Given the description of an element on the screen output the (x, y) to click on. 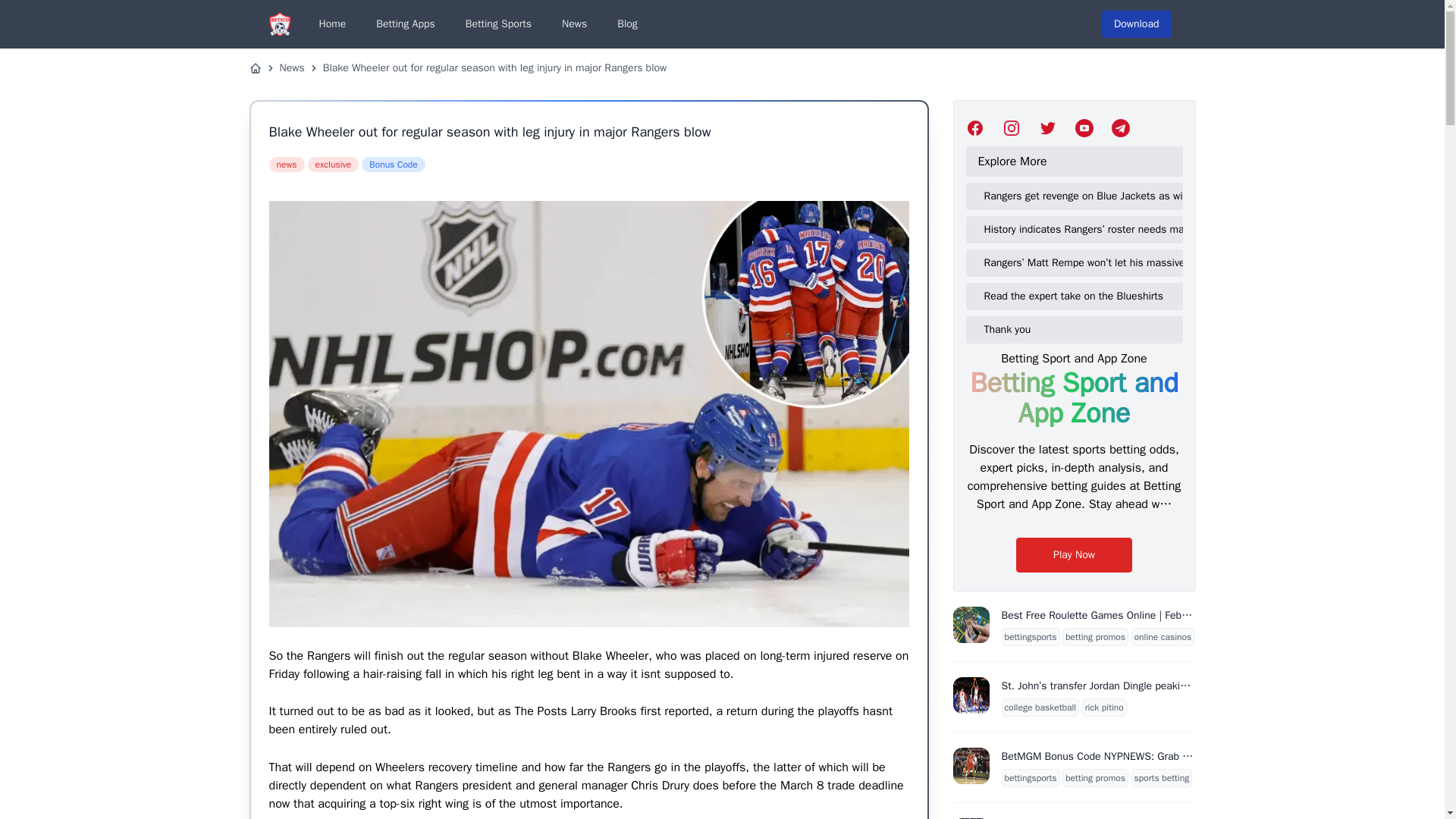
Read the expert take on the Blueshirts (1080, 296)
Home (331, 23)
Facebook (975, 127)
Bonus (393, 163)
Instagram (1011, 127)
online casinos (1163, 636)
Bonus Code (393, 163)
Twitter (1084, 127)
betting promos (1095, 636)
news (285, 163)
News (291, 68)
Thank you (1080, 329)
Explore More (1077, 161)
Twitter (1120, 127)
college basketball (1039, 707)
